Given the description of an element on the screen output the (x, y) to click on. 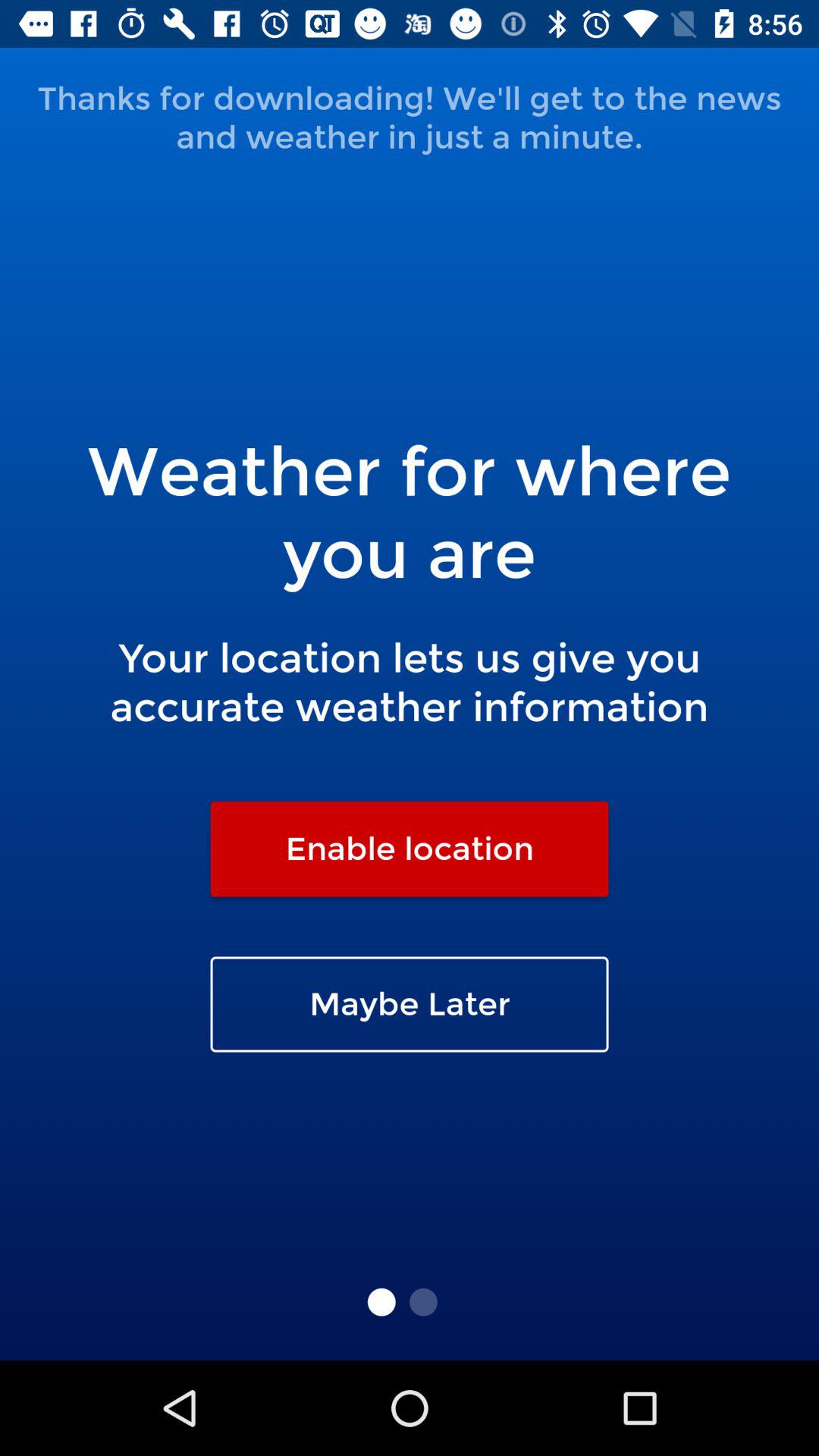
click icon below the enable location icon (409, 1004)
